Given the description of an element on the screen output the (x, y) to click on. 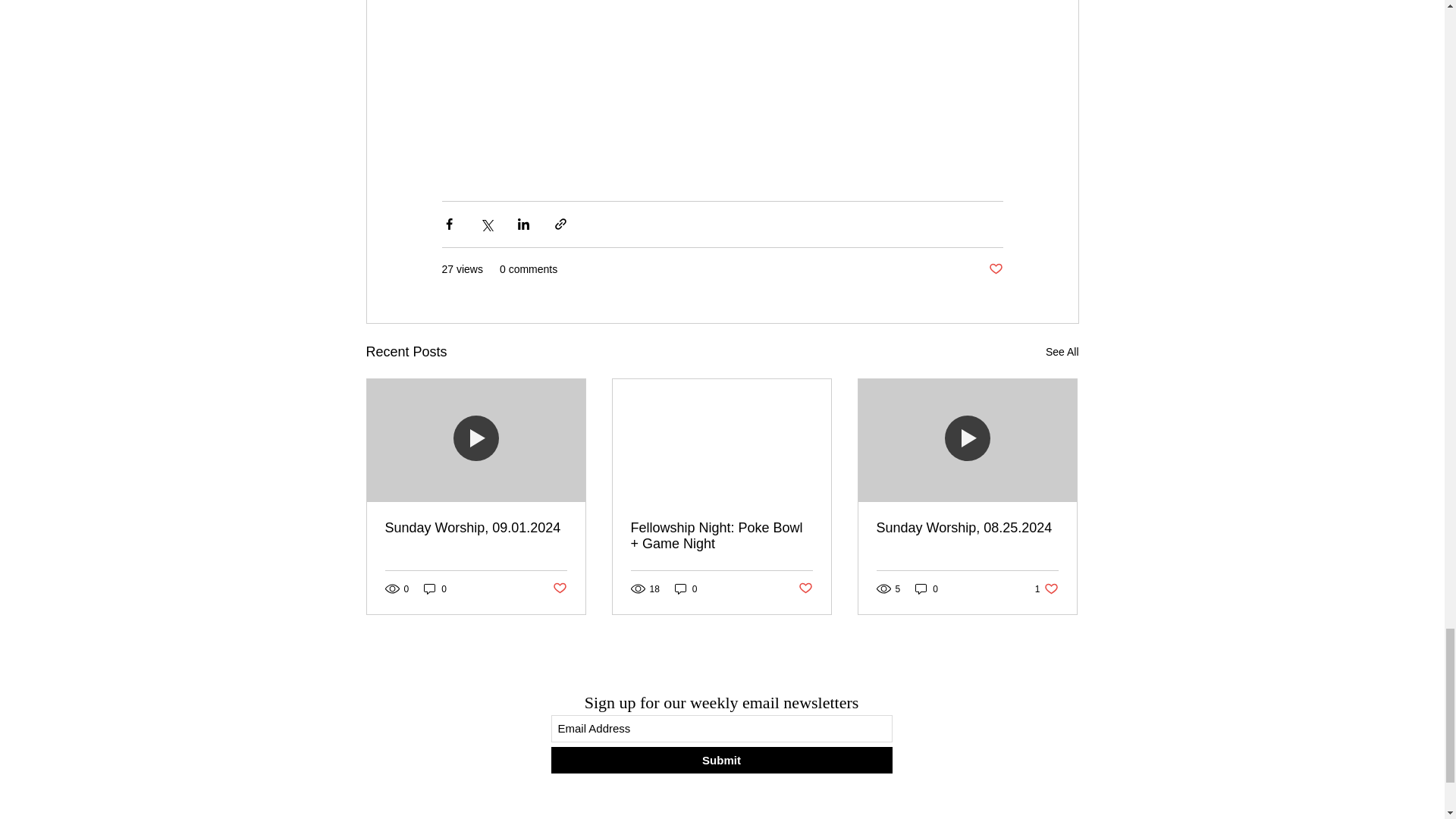
See All (1061, 352)
Post not marked as liked (804, 588)
Post not marked as liked (558, 588)
Sunday Worship, 08.25.2024 (967, 528)
Sunday Worship, 09.01.2024 (476, 528)
0 (926, 588)
0 (435, 588)
0 (685, 588)
Post not marked as liked (995, 269)
